Given the description of an element on the screen output the (x, y) to click on. 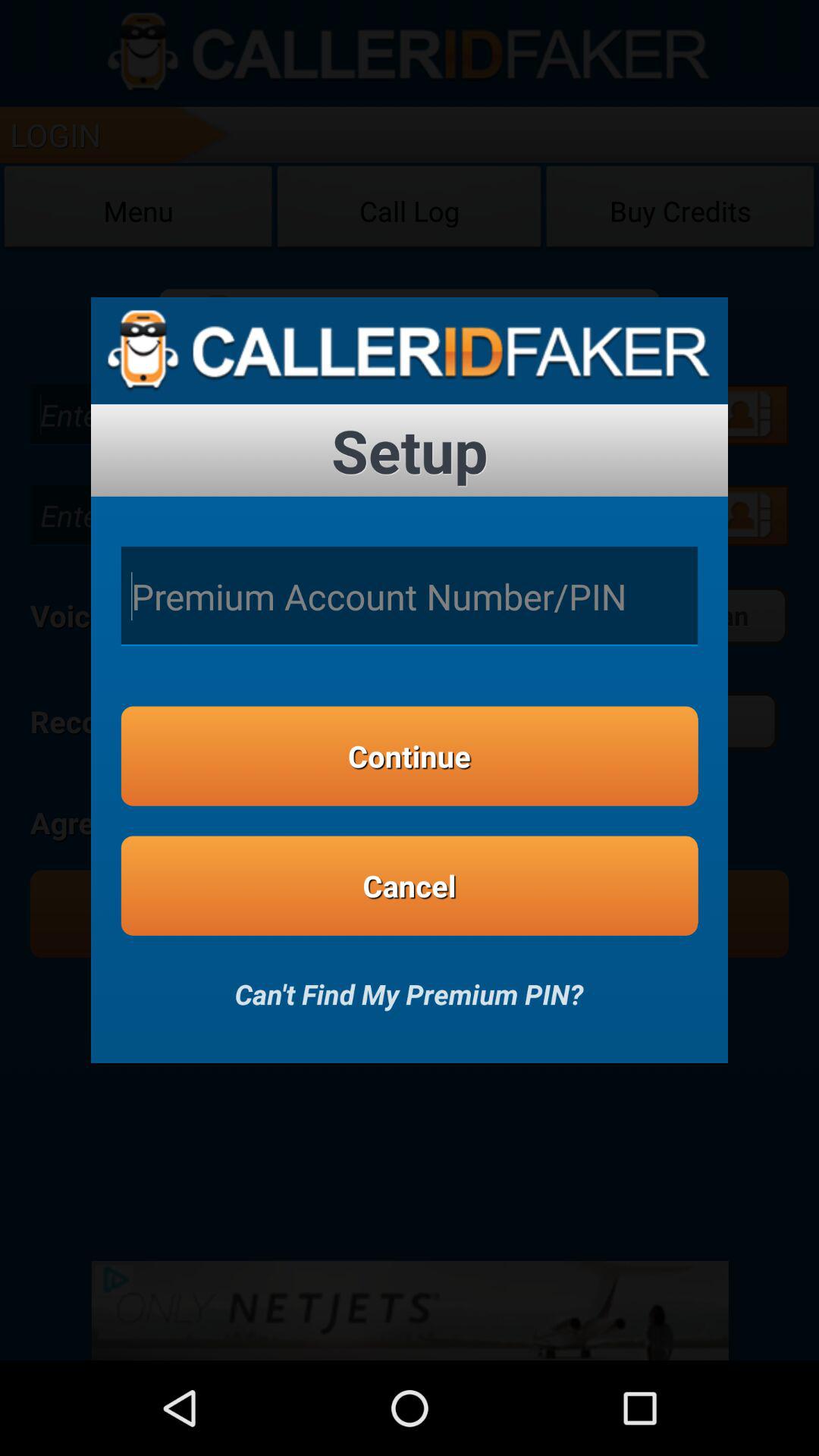
turn on icon at the bottom (408, 983)
